Given the description of an element on the screen output the (x, y) to click on. 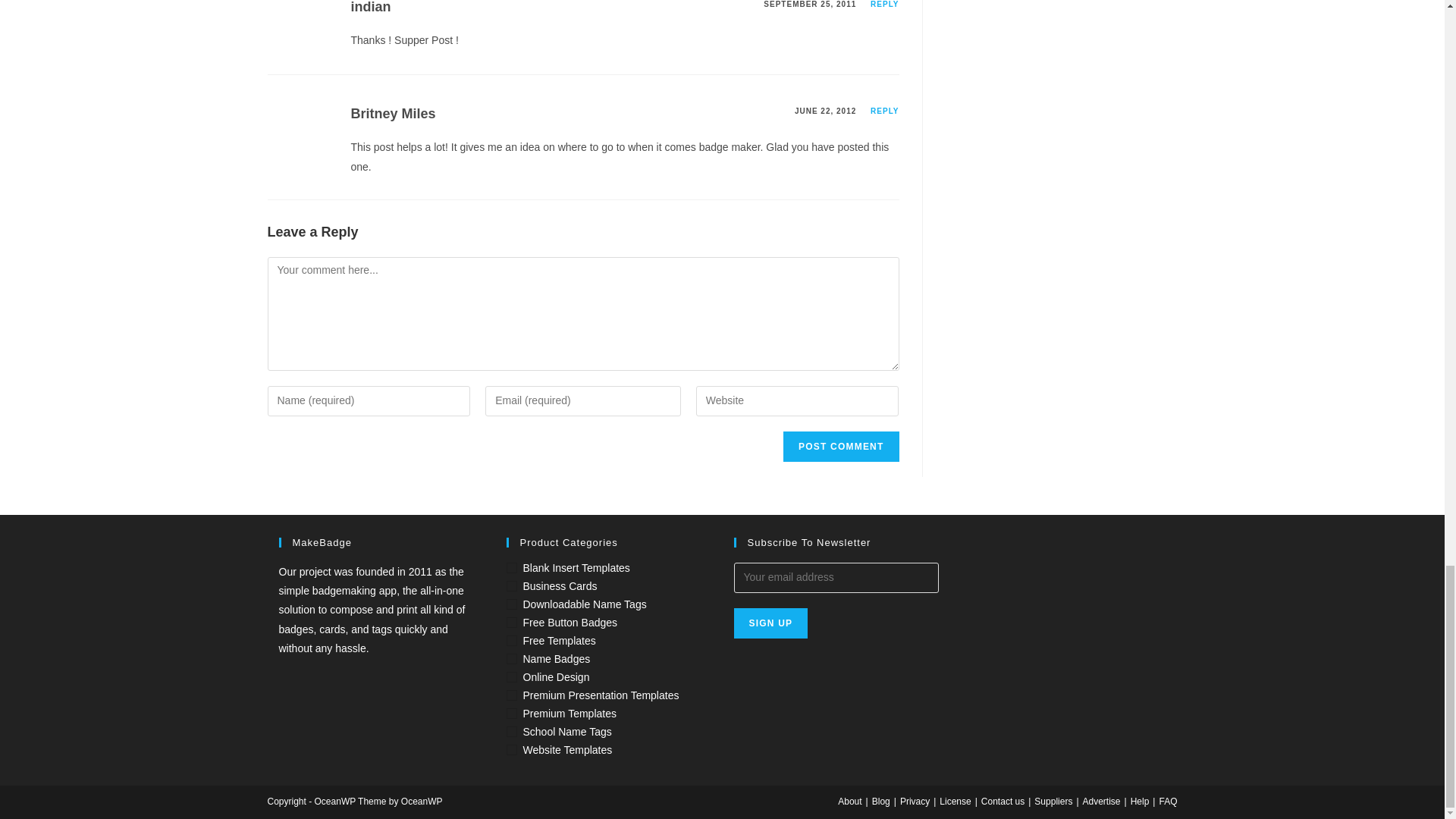
Sign up (770, 623)
Post Comment (840, 446)
